Given the description of an element on the screen output the (x, y) to click on. 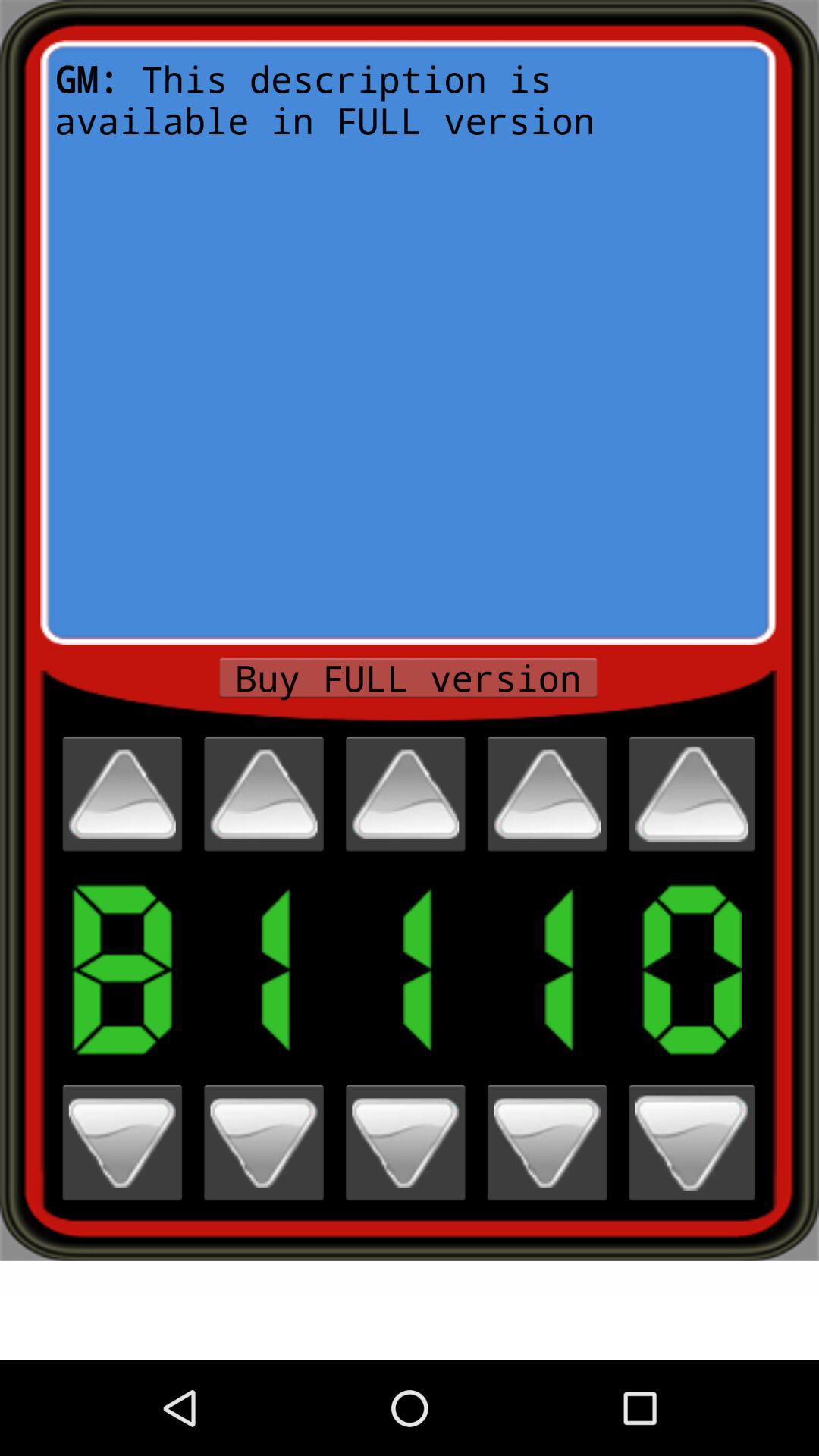
click on triangle (546, 794)
